Given the description of an element on the screen output the (x, y) to click on. 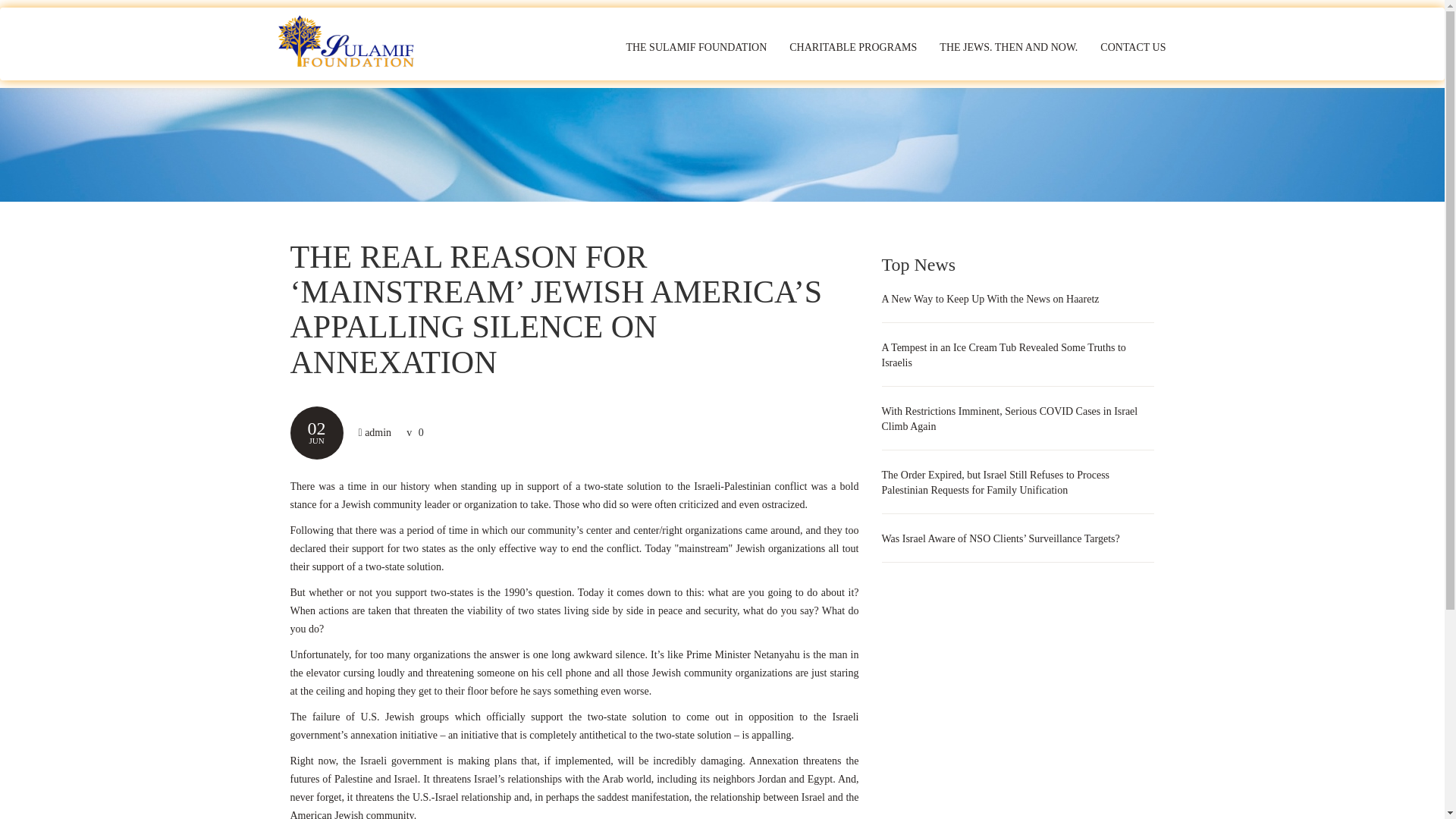
Sulamif foundation (352, 42)
admin (378, 432)
A New Way to Keep Up With the News on Haaretz (989, 298)
THE JEWS. THEN AND NOW. (1008, 47)
THE SULAMIF FOUNDATION (695, 47)
CONTACT US (1132, 47)
